Given the description of an element on the screen output the (x, y) to click on. 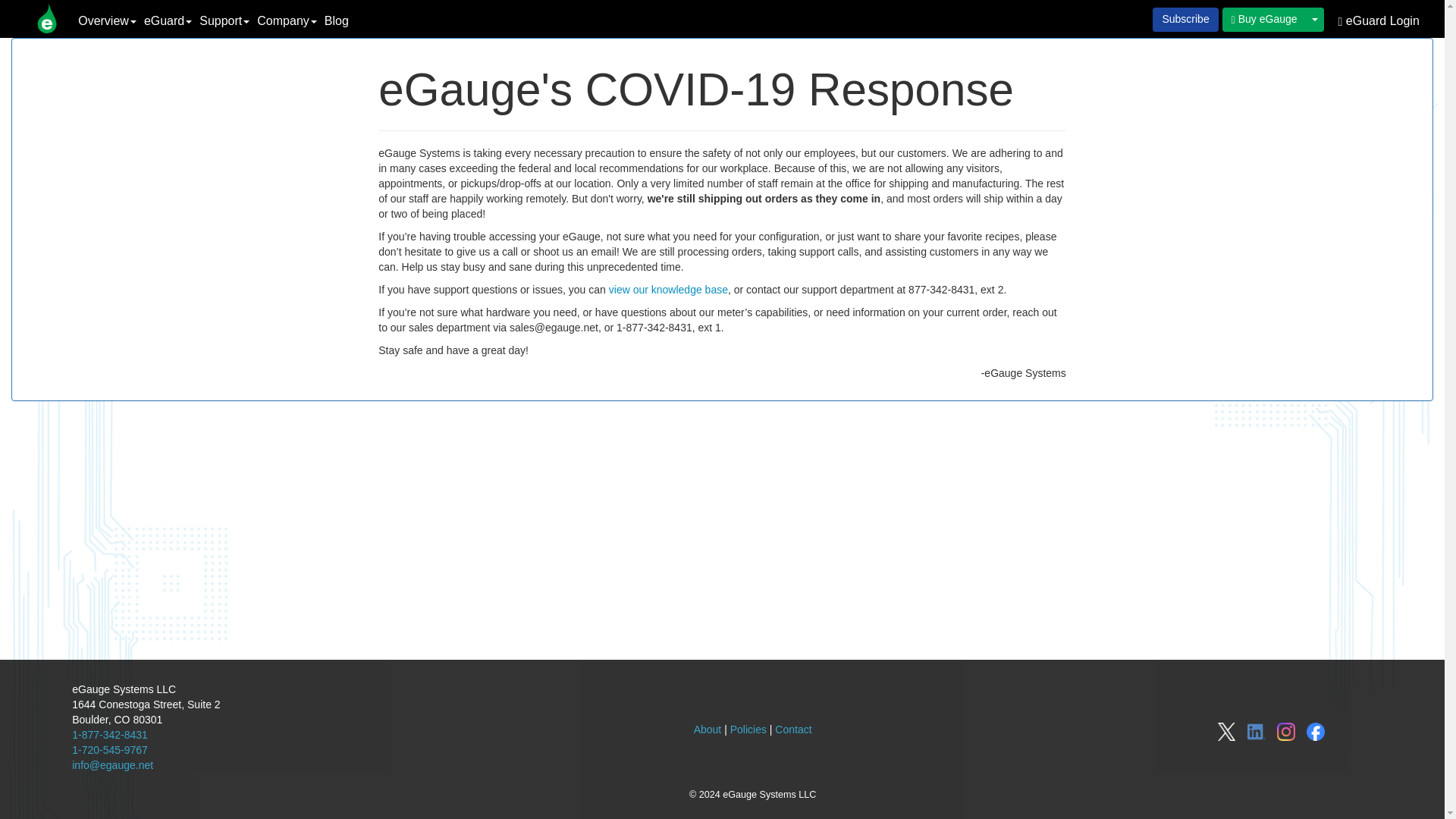
Subscribe (1185, 19)
Overview (106, 20)
eGuard Login (1379, 20)
Blog (336, 20)
Company (286, 20)
view our knowledge base (668, 289)
eGuard (167, 20)
Support (224, 20)
Buy eGauge (1264, 19)
